Given the description of an element on the screen output the (x, y) to click on. 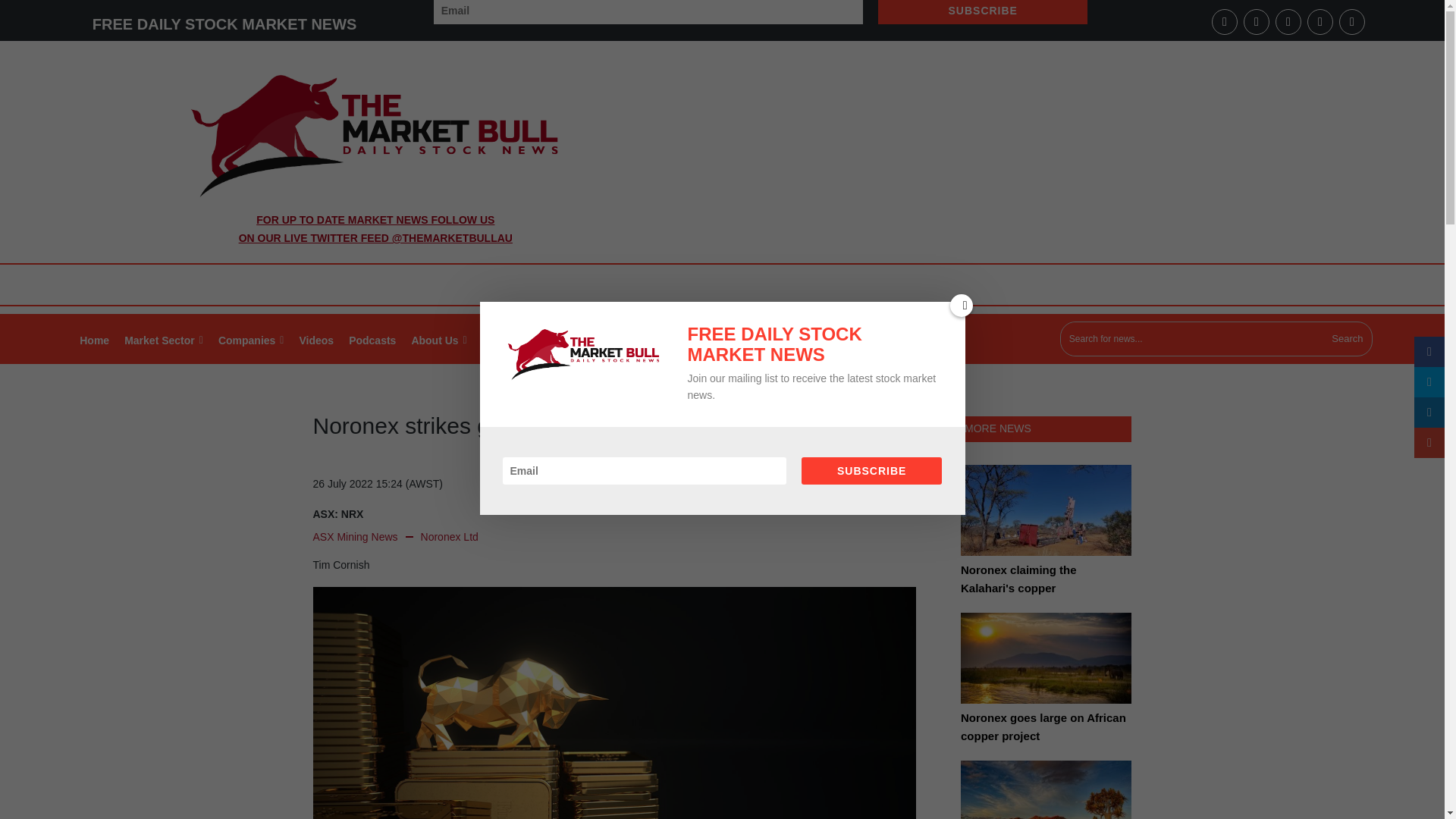
Follow on TikTok (1352, 22)
SUBSCRIBE (982, 12)
Follow on Youtube (1224, 22)
Noronex boosts copper potential in Namibia (1045, 789)
Search (1347, 339)
Search (1347, 339)
Noronex goes large on African copper project (1045, 668)
Follow on Instagram (1320, 22)
Follow on X (1288, 22)
Follow on LinkedIn (1256, 22)
